Given the description of an element on the screen output the (x, y) to click on. 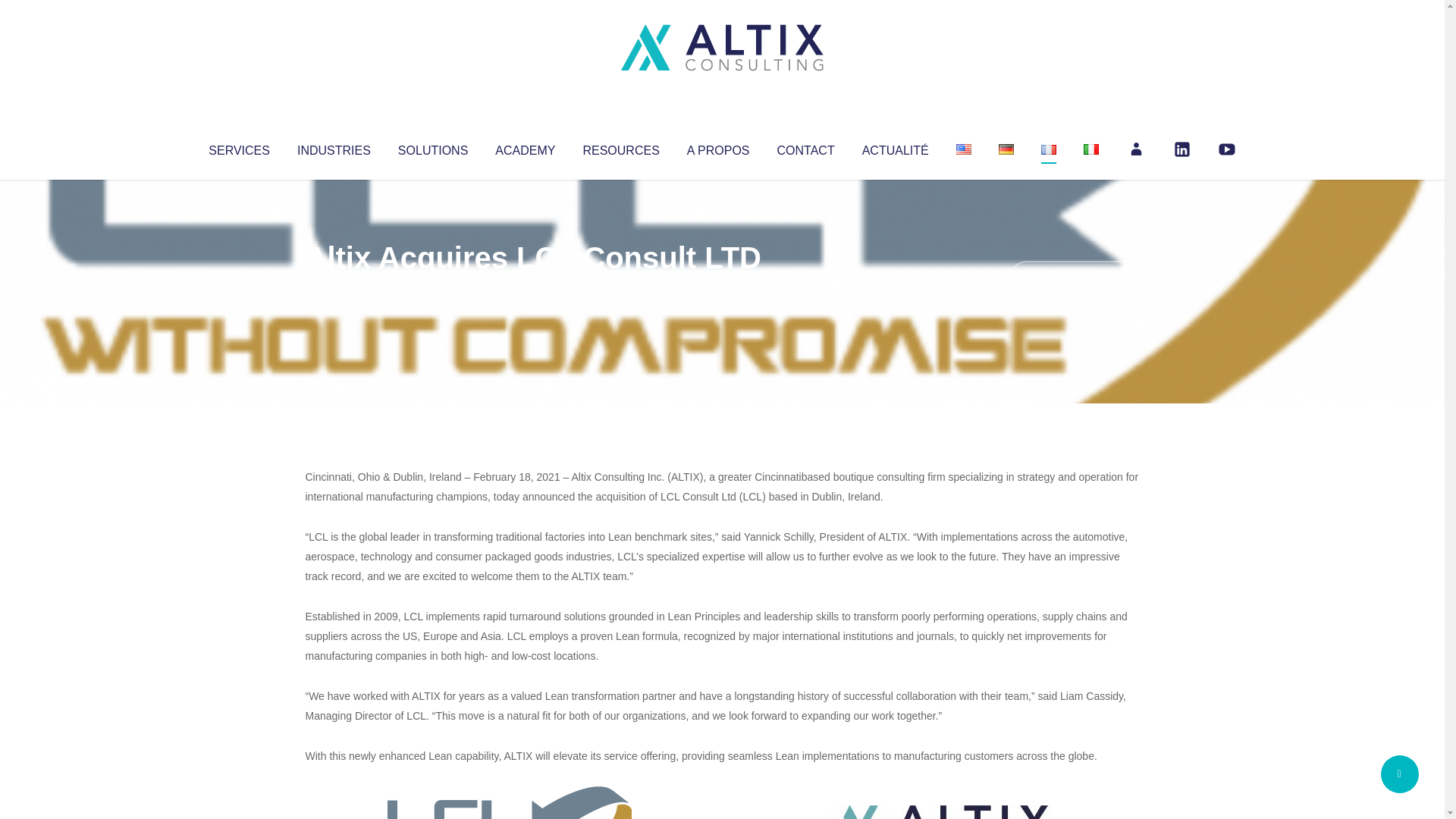
SERVICES (238, 146)
SOLUTIONS (432, 146)
Uncategorized (530, 287)
INDUSTRIES (334, 146)
Articles par Altix (333, 287)
No Comments (1073, 278)
RESOURCES (620, 146)
A PROPOS (718, 146)
ACADEMY (524, 146)
Altix (333, 287)
